Given the description of an element on the screen output the (x, y) to click on. 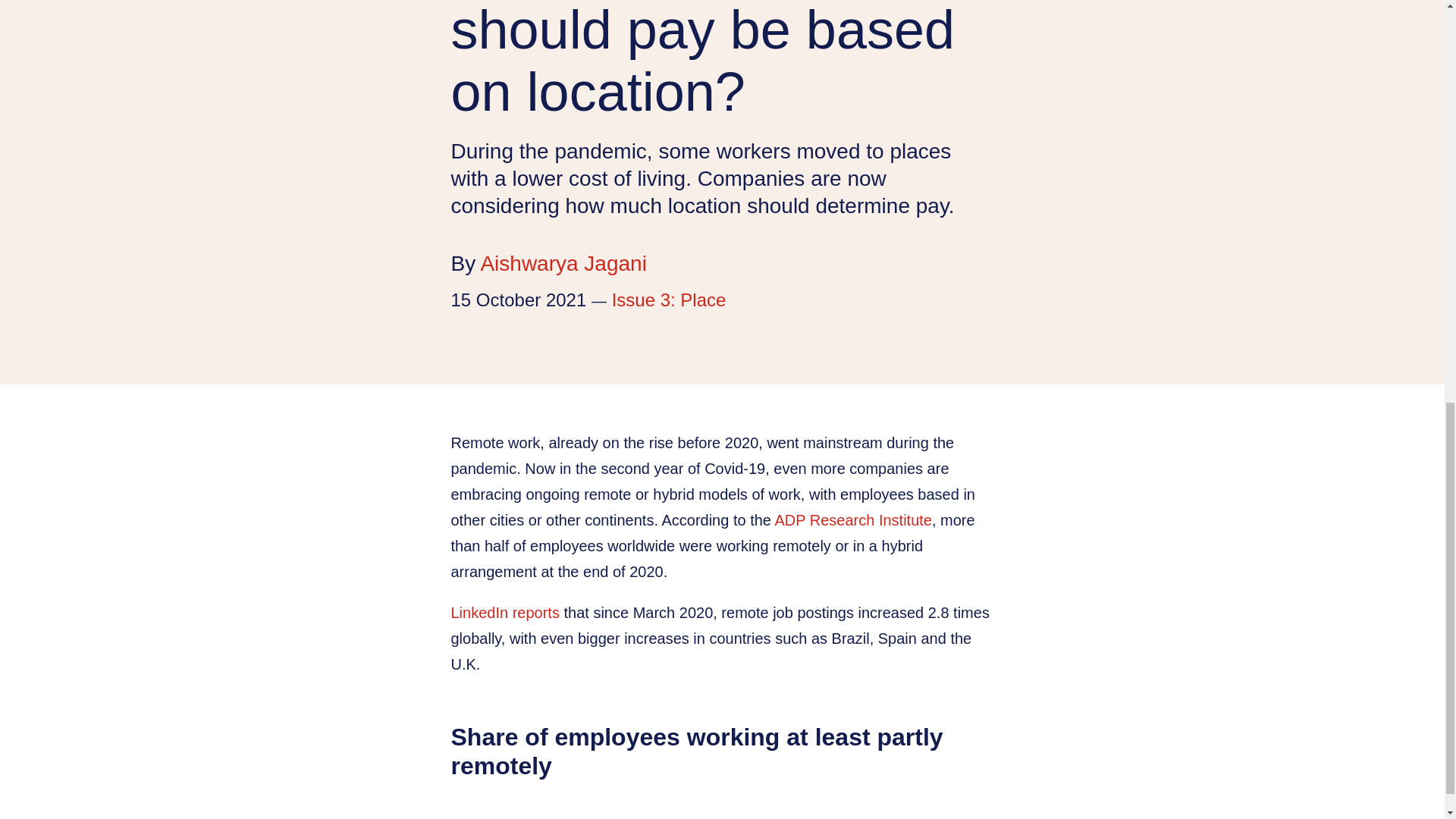
Issue 3: Place (668, 299)
Aishwarya Jagani (563, 263)
ADP Research Institute (852, 519)
LinkedIn reports (504, 612)
